Given the description of an element on the screen output the (x, y) to click on. 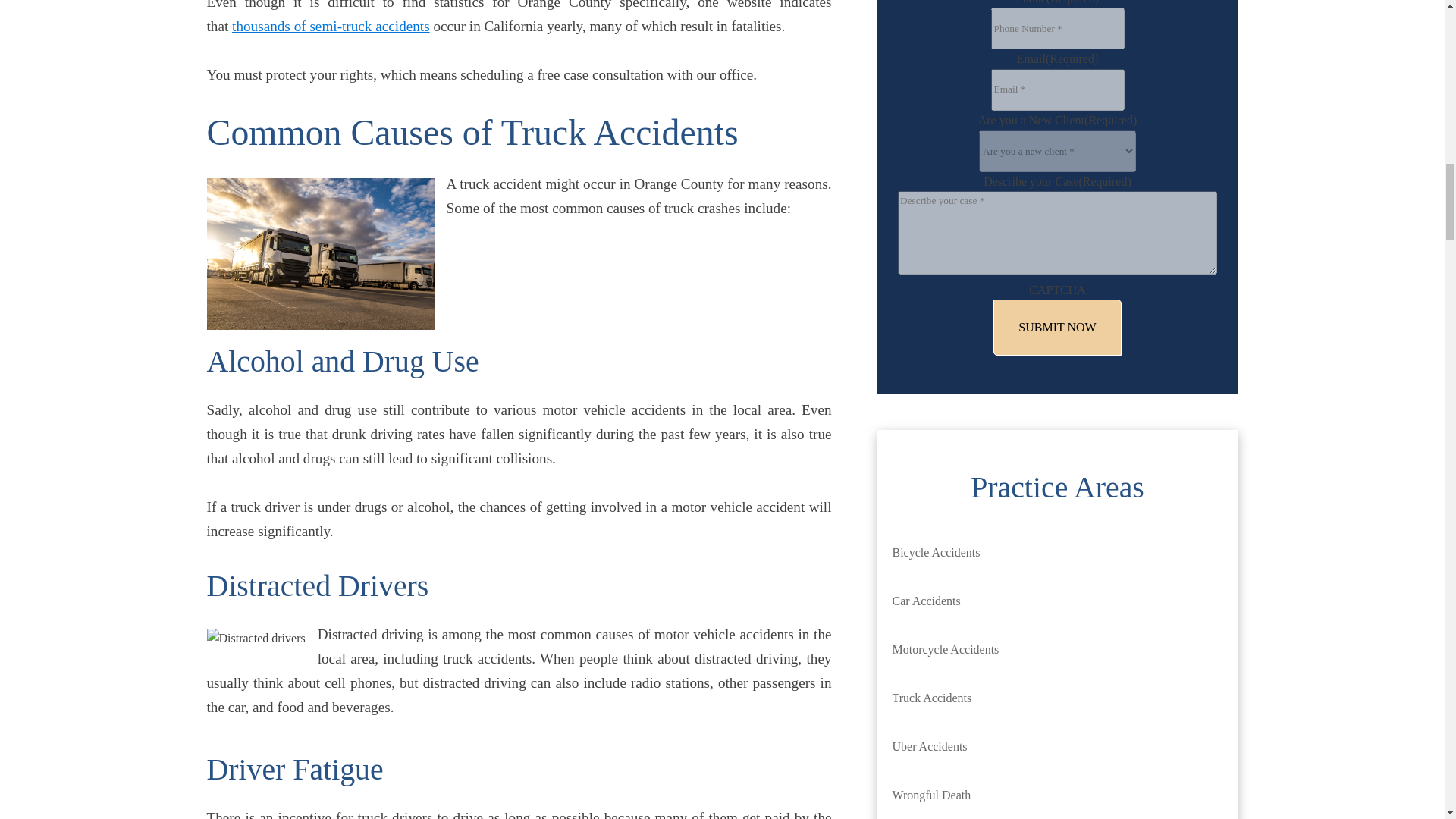
SUBMIT NOW (1056, 327)
